Given the description of an element on the screen output the (x, y) to click on. 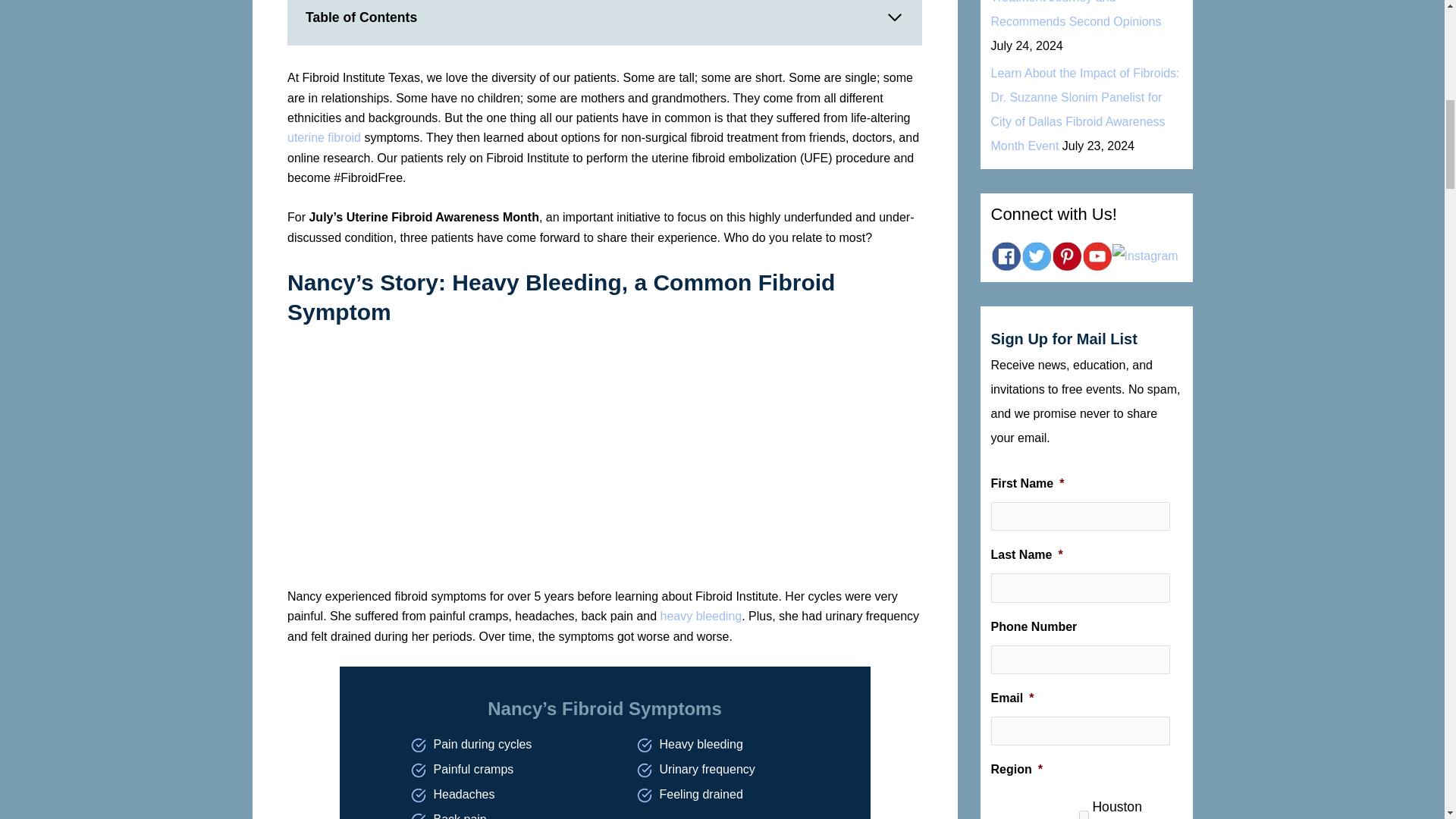
Table of Contents (603, 22)
YouTube video player (498, 461)
